Given the description of an element on the screen output the (x, y) to click on. 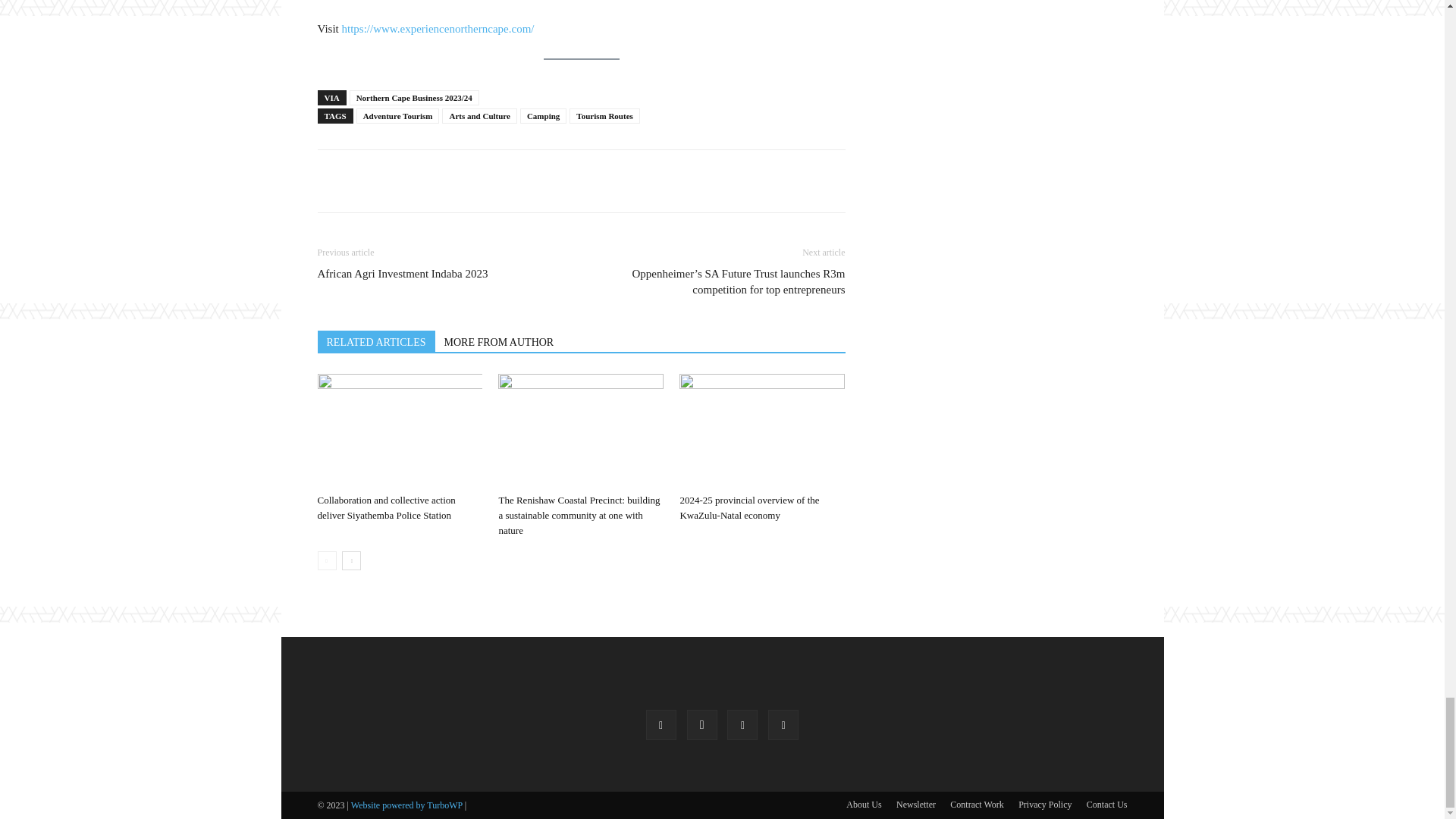
Facebook (661, 725)
2024-25 provincial overview of the KwaZulu-Natal economy (761, 430)
2024-25 provincial overview of the KwaZulu-Natal economy (748, 507)
